Given the description of an element on the screen output the (x, y) to click on. 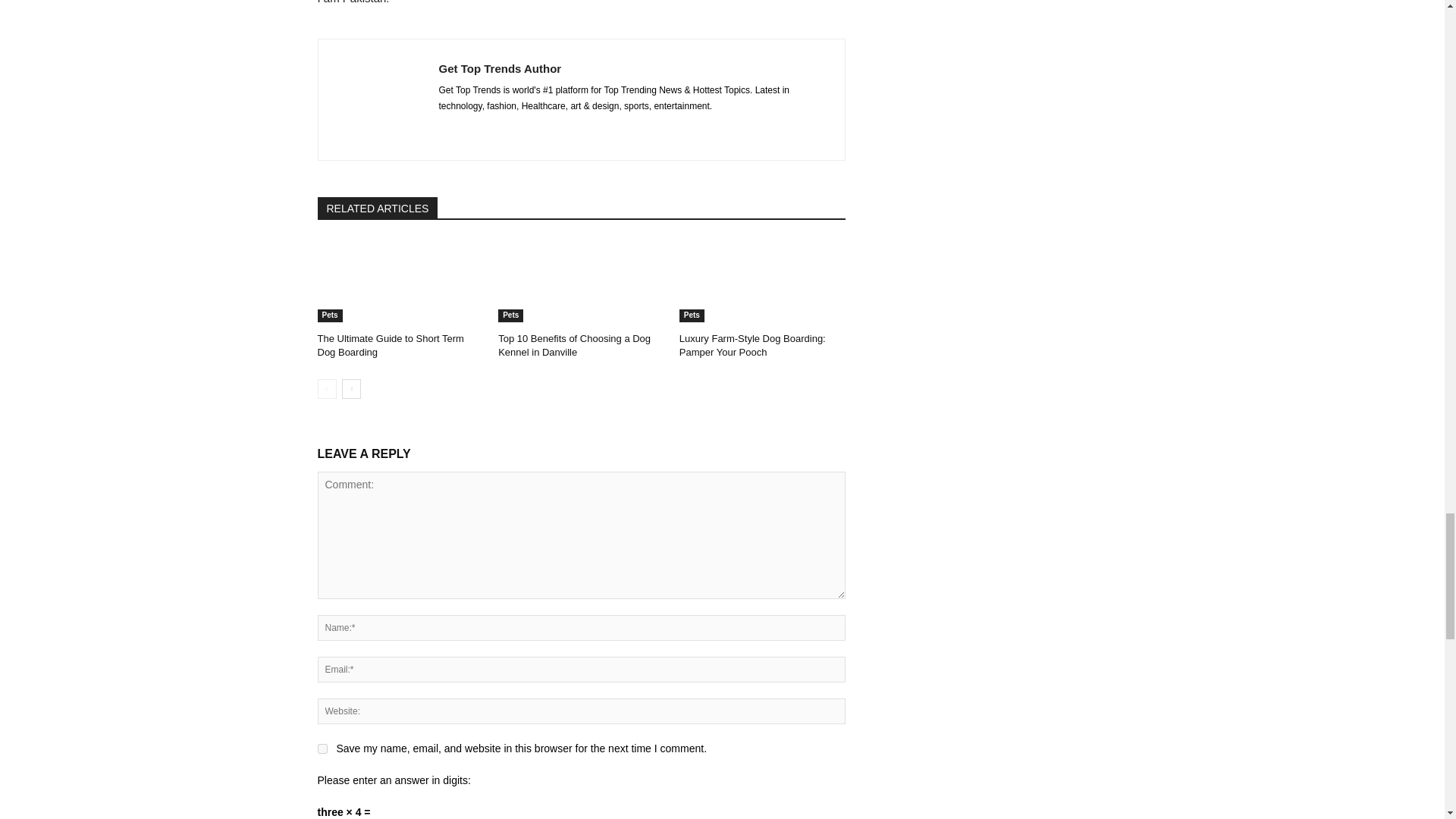
yes (321, 748)
